Given the description of an element on the screen output the (x, y) to click on. 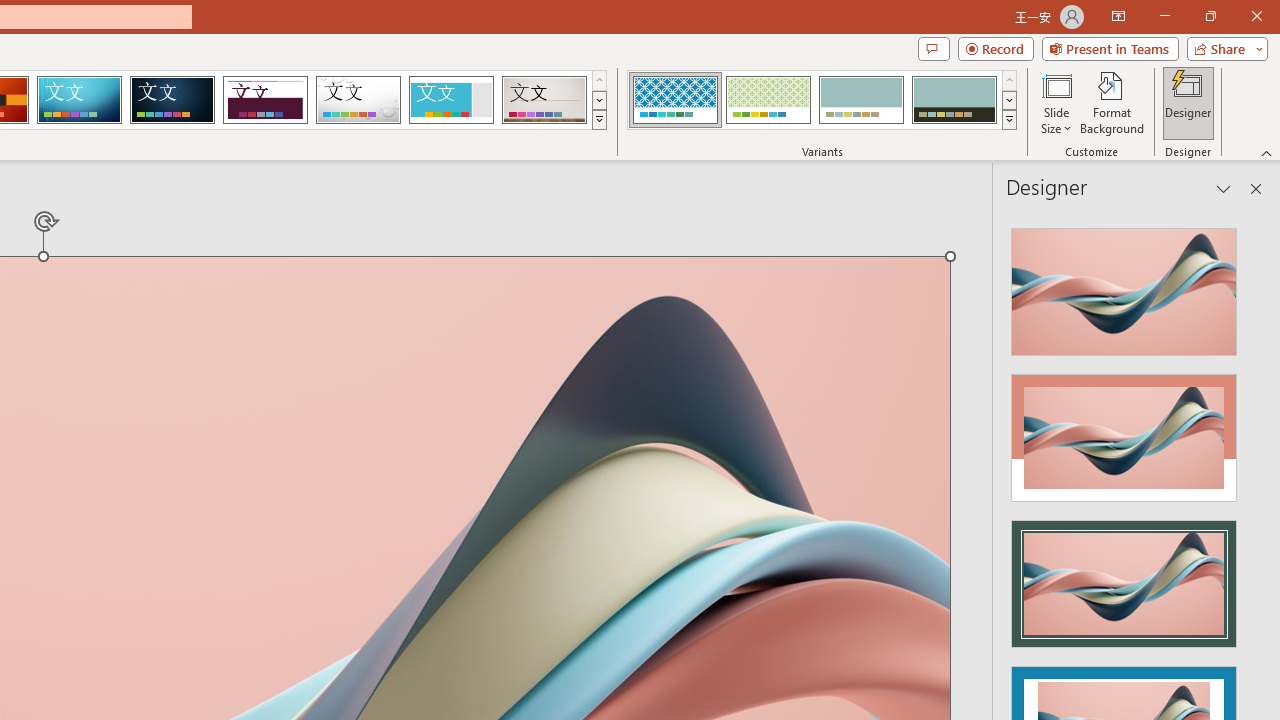
Dividend (265, 100)
Circuit (79, 100)
Design Idea (1124, 577)
Recommended Design: Design Idea (1124, 286)
Integral Variant 3 (861, 100)
Integral Variant 2 (768, 100)
Frame (450, 100)
Damask (171, 100)
